Given the description of an element on the screen output the (x, y) to click on. 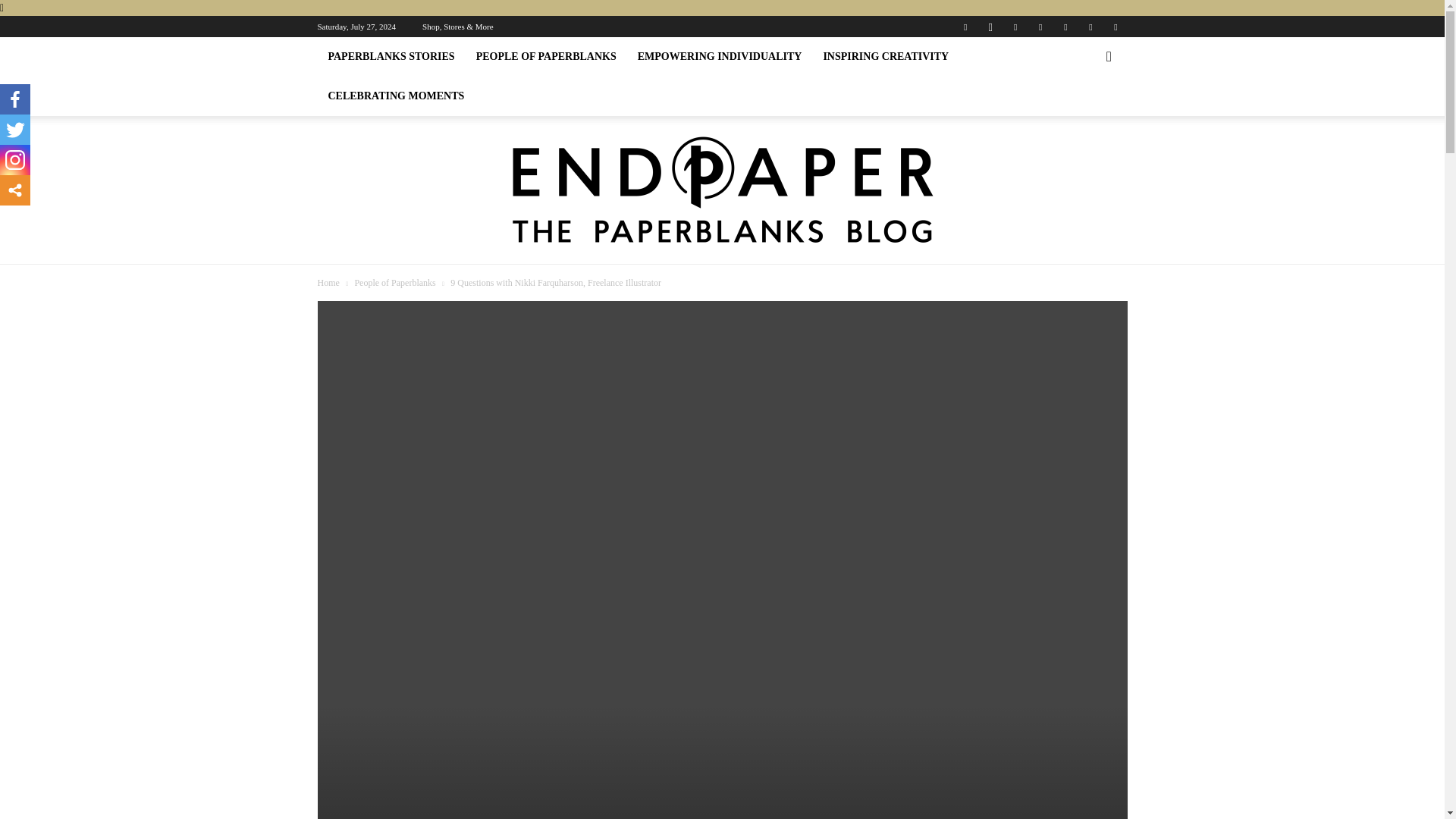
Facebook (964, 25)
Search (1085, 119)
INSPIRING CREATIVITY (885, 56)
Instagram (989, 25)
Linkedin (1015, 25)
PEOPLE OF PAPERBLANKS (546, 56)
Home (328, 282)
View all posts in People of Paperblanks (394, 282)
EMPOWERING INDIVIDUALITY (719, 56)
PAPERBLANKS STORIES (390, 56)
Twitter (1090, 25)
Pinterest (1040, 25)
CELEBRATING MOMENTS (395, 96)
TikTok (1065, 25)
People of Paperblanks (394, 282)
